Given the description of an element on the screen output the (x, y) to click on. 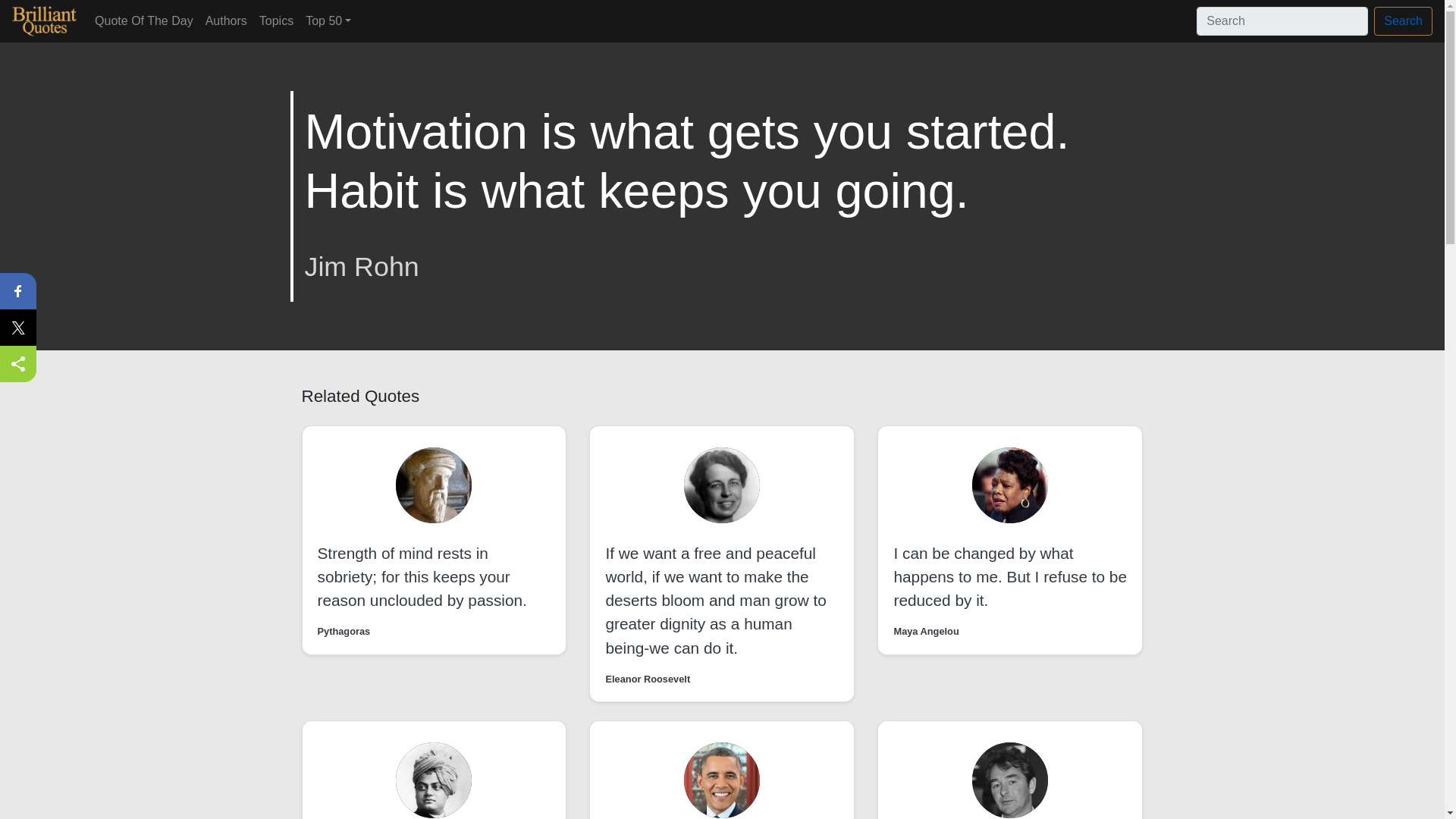
Eleanor Roosevelt (647, 678)
Top 50 (327, 20)
Maya Angelou (925, 631)
Topics (276, 20)
Authors (226, 20)
Pythagoras (343, 631)
Quote Of The Day (143, 20)
Search (1403, 21)
